Given the description of an element on the screen output the (x, y) to click on. 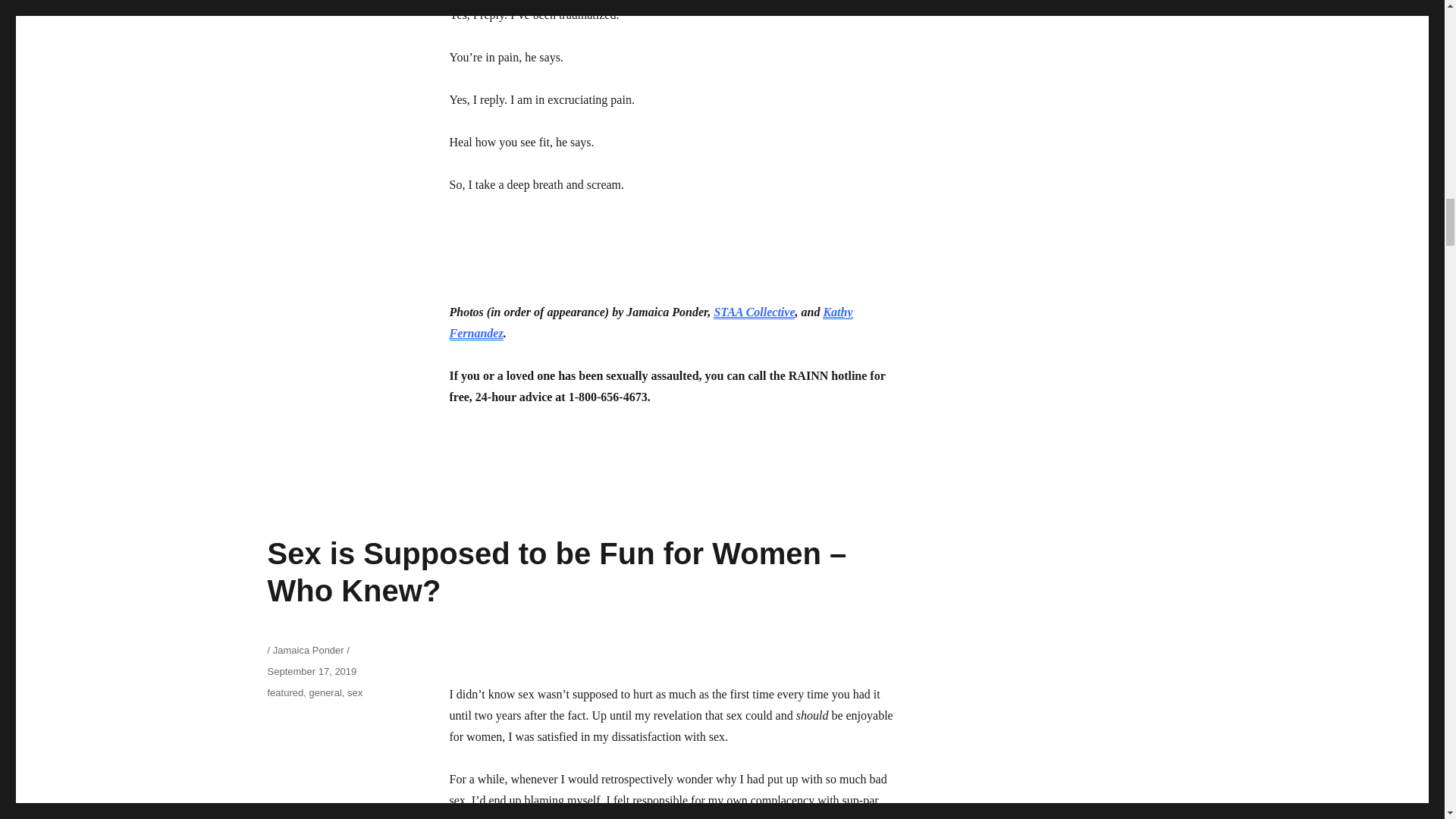
Kathy Fernandez (649, 322)
STAA Collective (753, 311)
general (324, 692)
sex (354, 692)
September 17, 2019 (311, 671)
featured (284, 692)
